Given the description of an element on the screen output the (x, y) to click on. 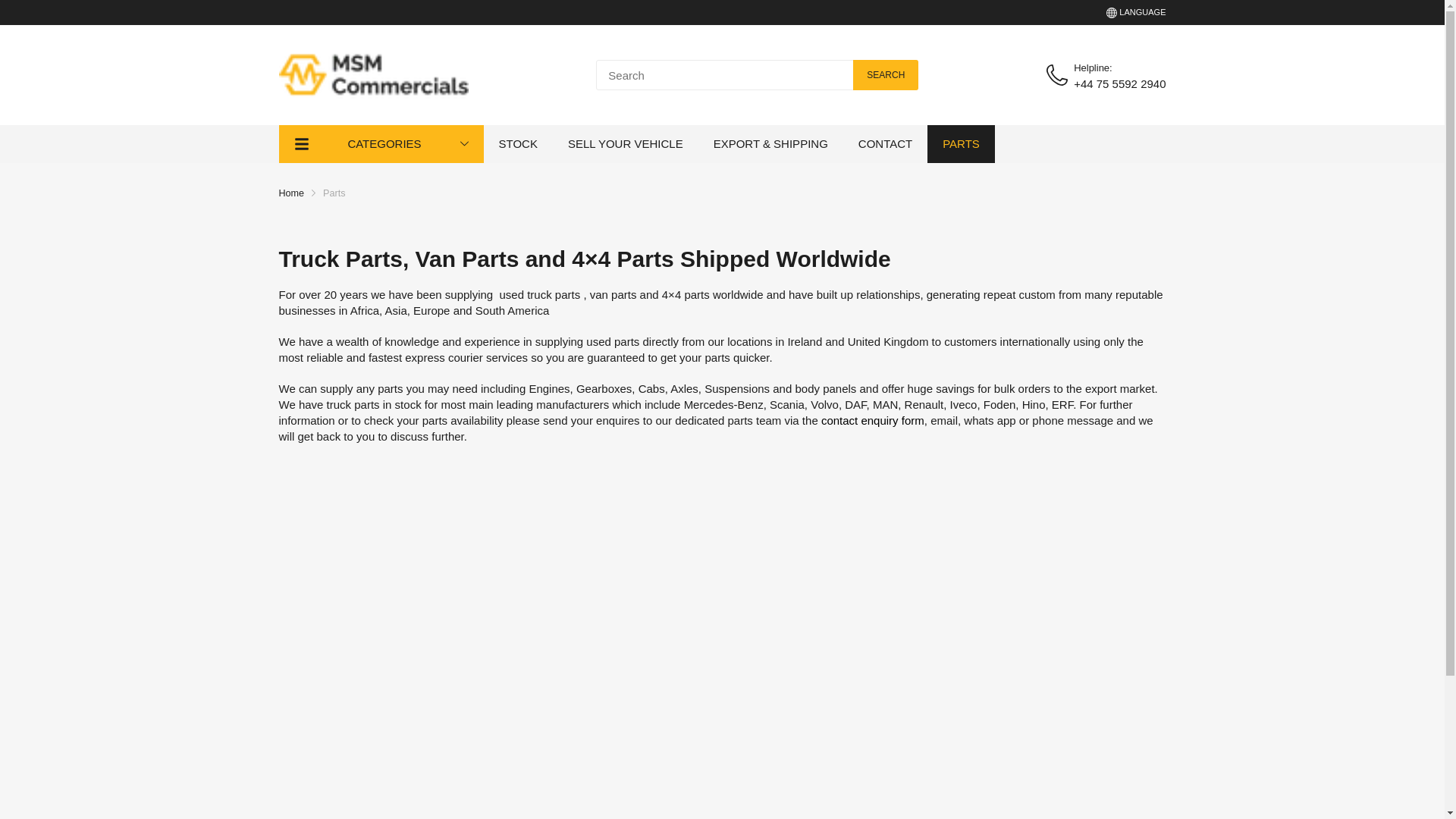
contact enquiry form (872, 420)
LANGUAGE (1136, 11)
PARTS (960, 143)
SELL YOUR VEHICLE (624, 143)
STOCK (518, 143)
SEARCH (885, 74)
Parts (334, 193)
Home (291, 193)
CONTACT (885, 143)
